Given the description of an element on the screen output the (x, y) to click on. 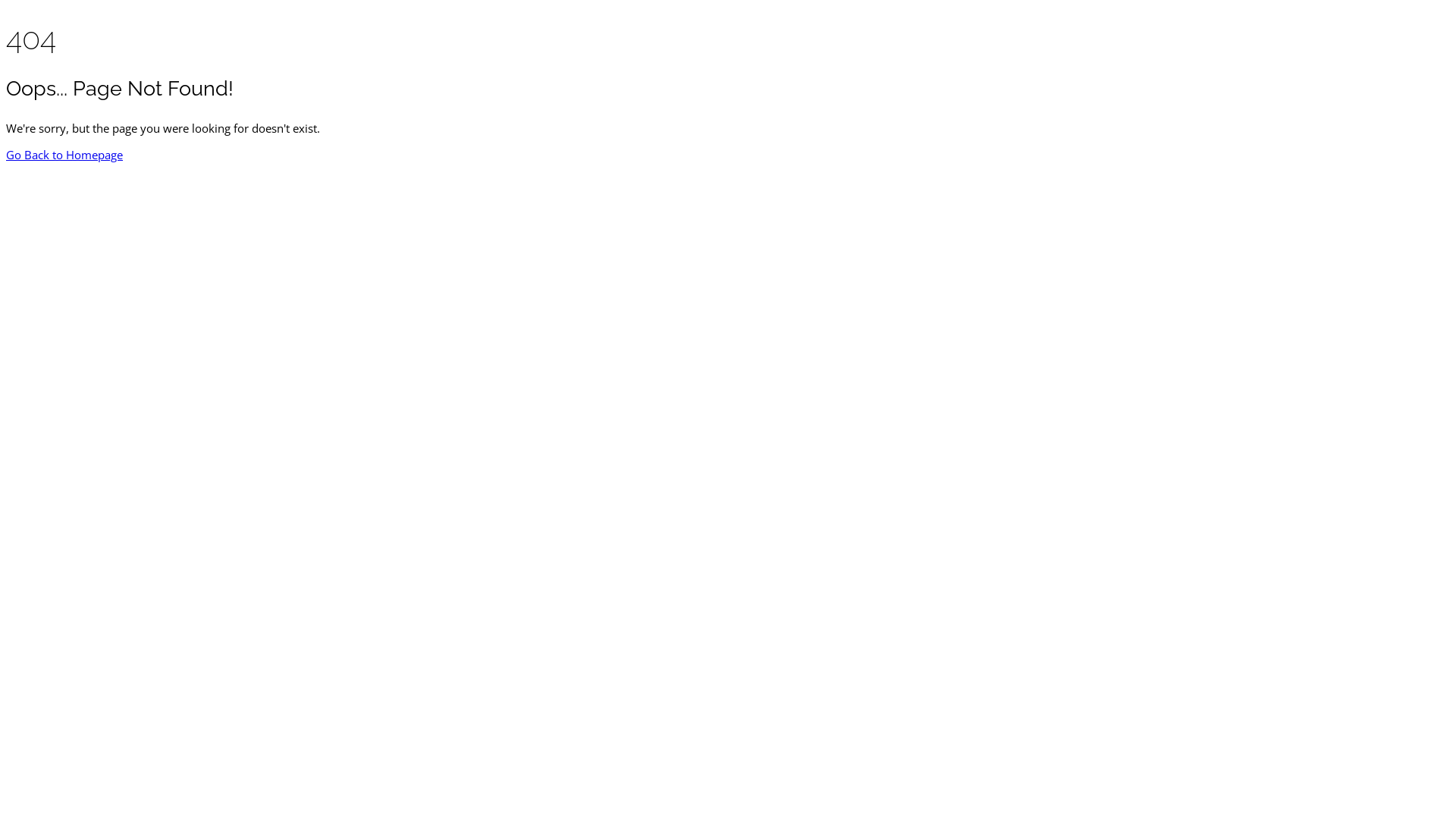
Go Back to Homepage Element type: text (64, 154)
